Given the description of an element on the screen output the (x, y) to click on. 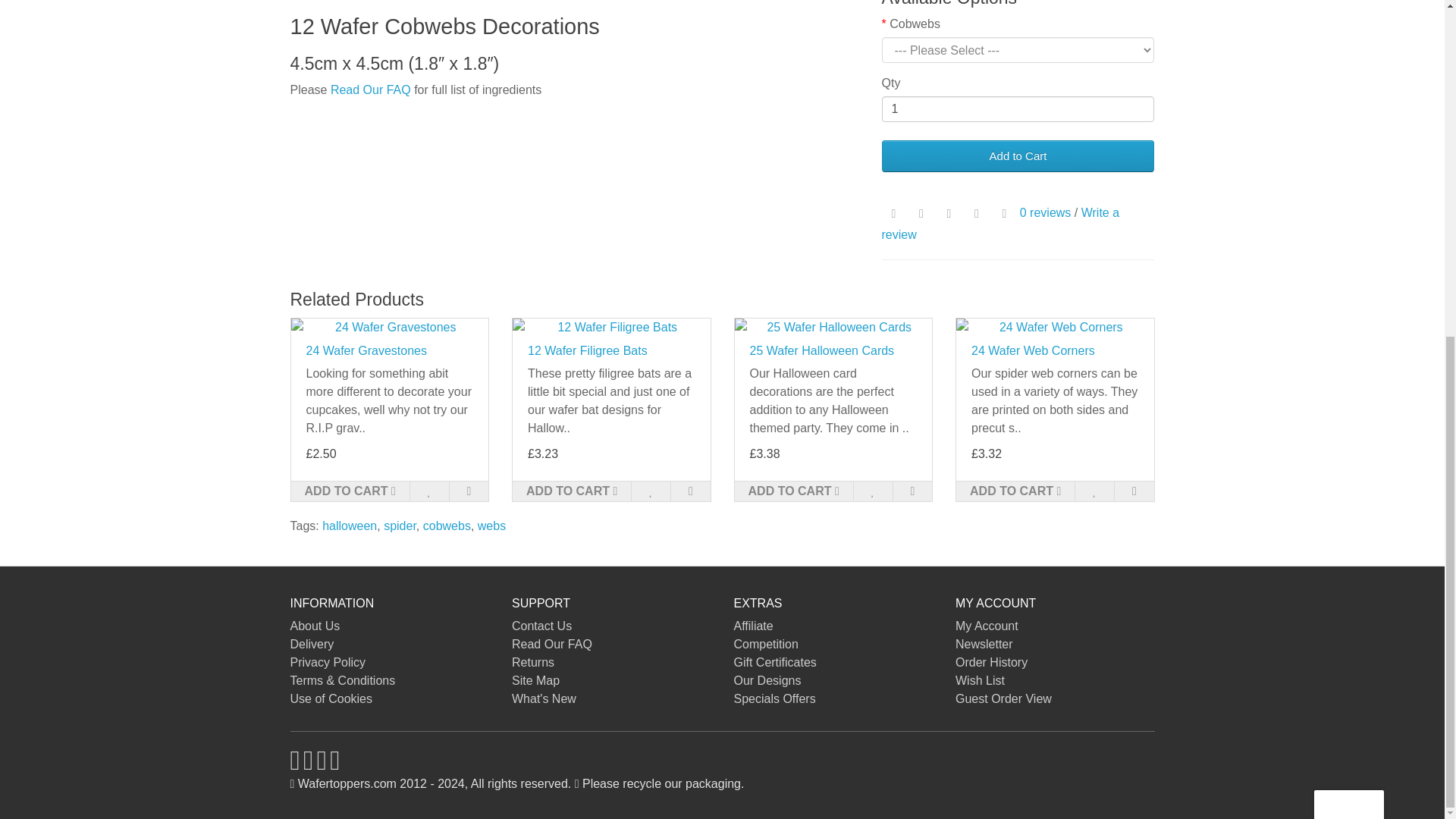
25 Wafer Halloween Cards (832, 327)
12 Wafer Filigree Bats (611, 327)
1 (1017, 109)
24 Wafer Gravestones (390, 327)
